Given the description of an element on the screen output the (x, y) to click on. 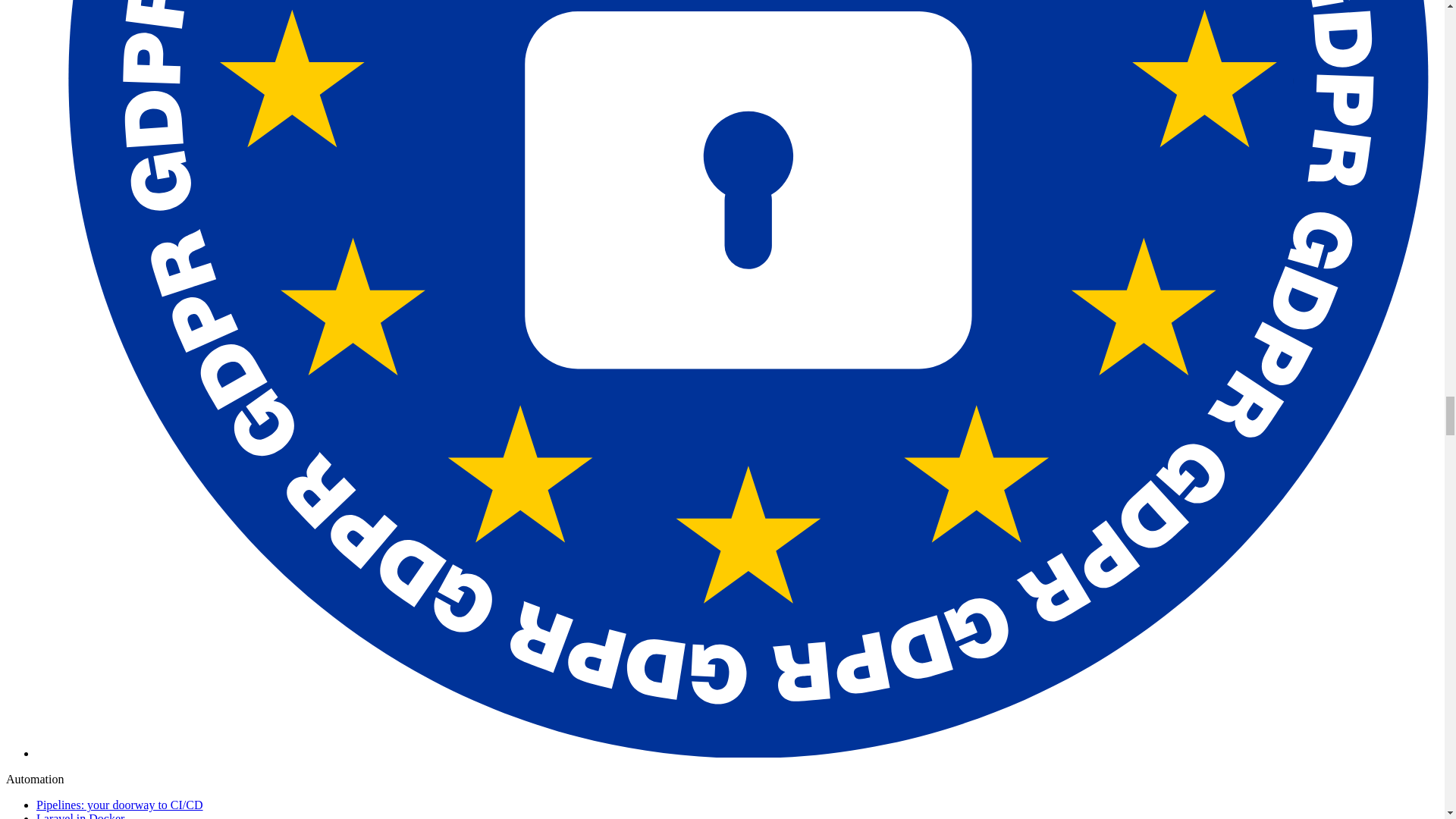
Laravel in Docker (79, 815)
